Given the description of an element on the screen output the (x, y) to click on. 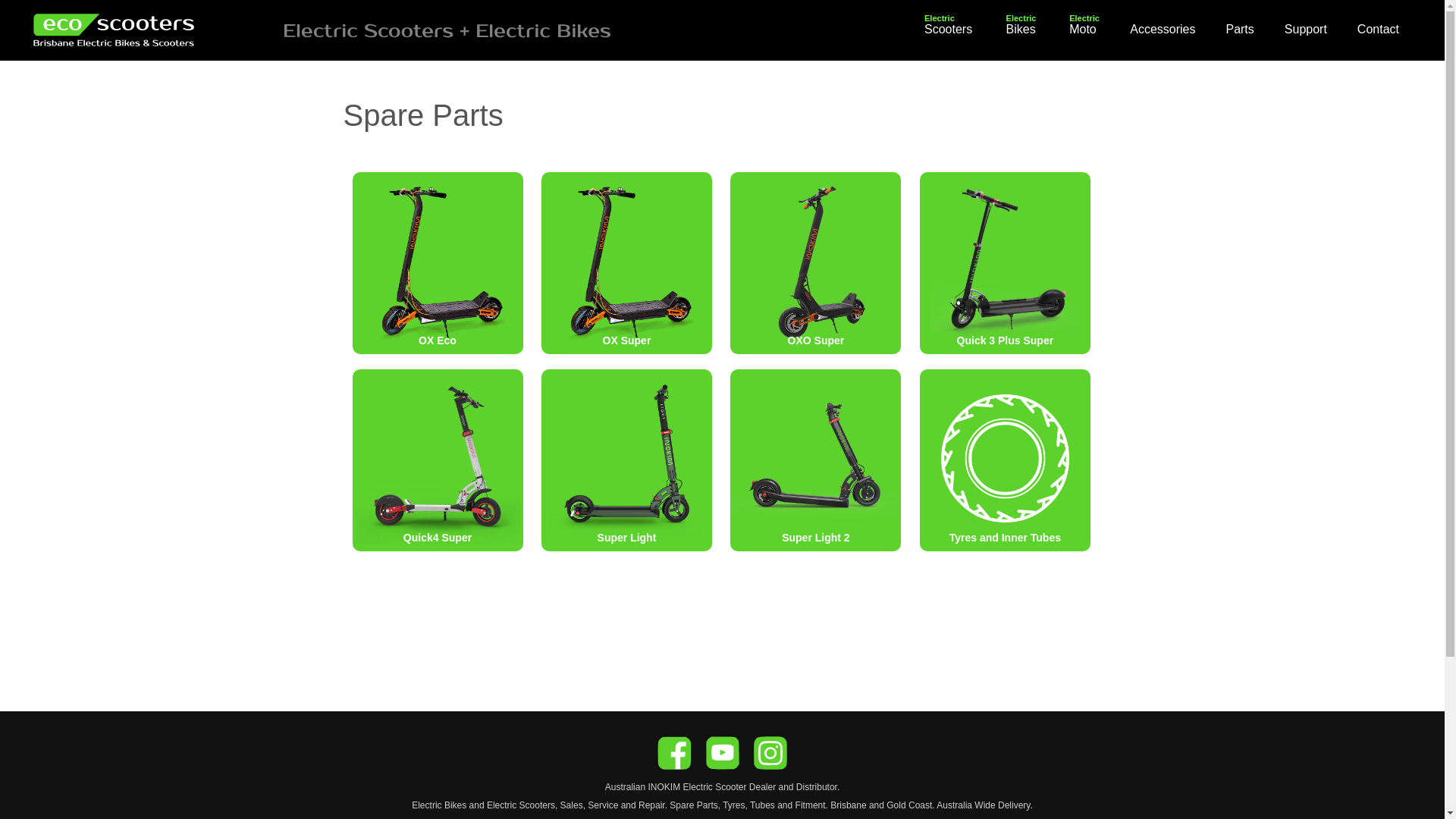
Brisbane Electric Bikes & Scooters Element type: text (143, 30)
Quick4 Super Element type: text (436, 460)
Super Light 2 Element type: text (815, 460)
Super Light Element type: text (626, 460)
Accessories Element type: text (1162, 29)
Tyres and Inner Tubes Element type: text (1004, 460)
Electric
Scooters Element type: text (948, 29)
OX Eco Element type: text (436, 263)
Electric
Bikes Element type: text (1020, 29)
Contact Element type: text (1378, 29)
Support Element type: text (1305, 29)
Quick 3 Plus Super Element type: text (1004, 263)
INOKIM Element type: text (663, 786)
OX Super Element type: text (626, 263)
OXO Super Element type: text (815, 263)
Electric Scooter Element type: text (714, 786)
Parts Element type: text (1239, 29)
Electric
Moto Element type: text (1082, 29)
